Given the description of an element on the screen output the (x, y) to click on. 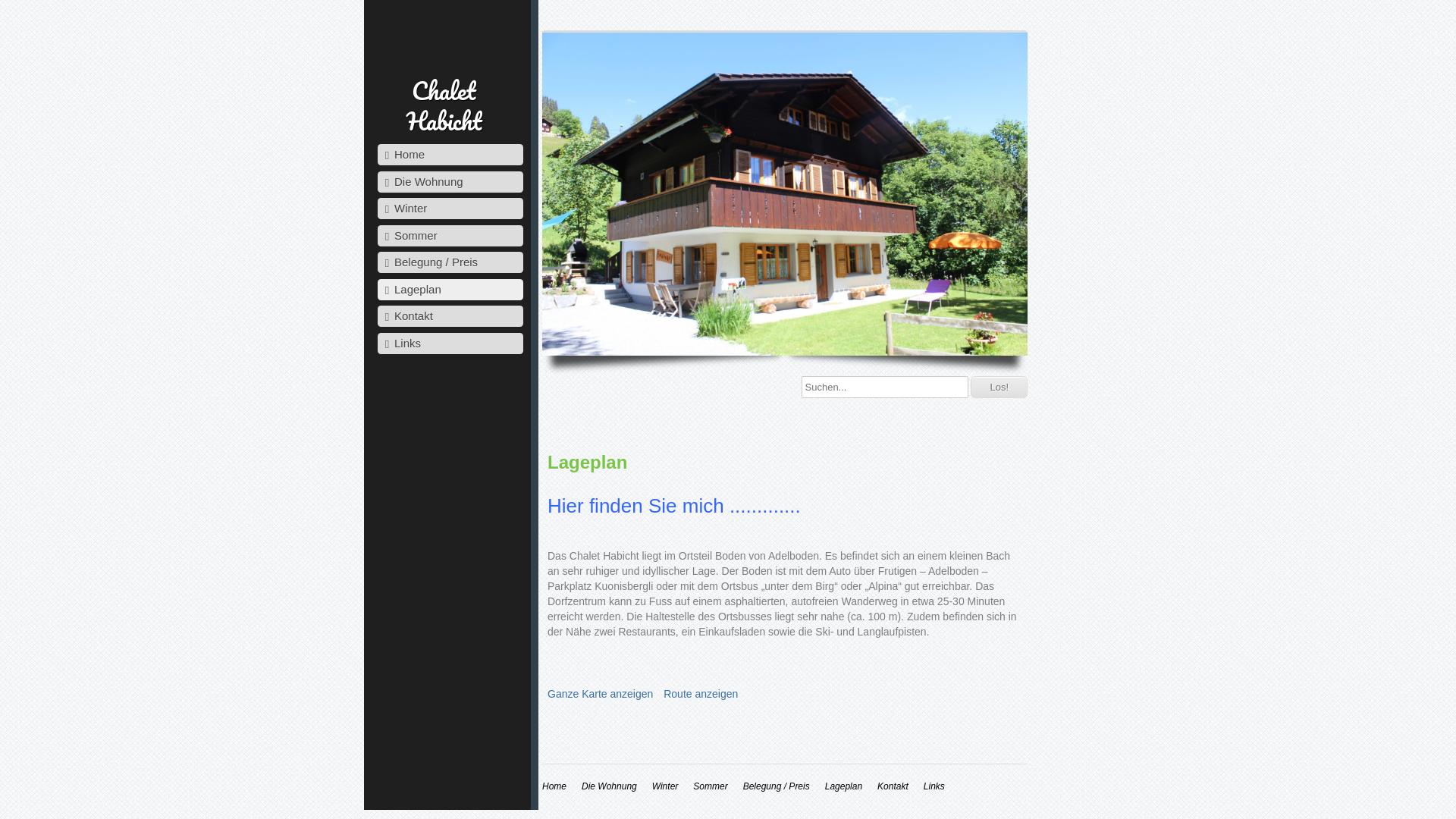
Die Wohnung Element type: text (609, 786)
Sommer Element type: text (450, 234)
Lageplan Element type: text (450, 289)
Links Element type: text (450, 342)
Lageplan Element type: text (843, 786)
Chalet Habicht Element type: text (443, 105)
Kontakt Element type: text (892, 786)
Winter Element type: text (450, 208)
Los! Element type: text (998, 387)
Belegung / Preis Element type: text (776, 786)
Home Element type: text (554, 786)
Kontakt Element type: text (450, 315)
Belegung / Preis Element type: text (450, 262)
Links Element type: text (933, 786)
Ganze Karte anzeigen Element type: text (599, 693)
Sommer Element type: text (710, 786)
Route anzeigen Element type: text (700, 693)
Home Element type: text (450, 154)
Winter Element type: text (665, 786)
Die Wohnung Element type: text (450, 181)
